Given the description of an element on the screen output the (x, y) to click on. 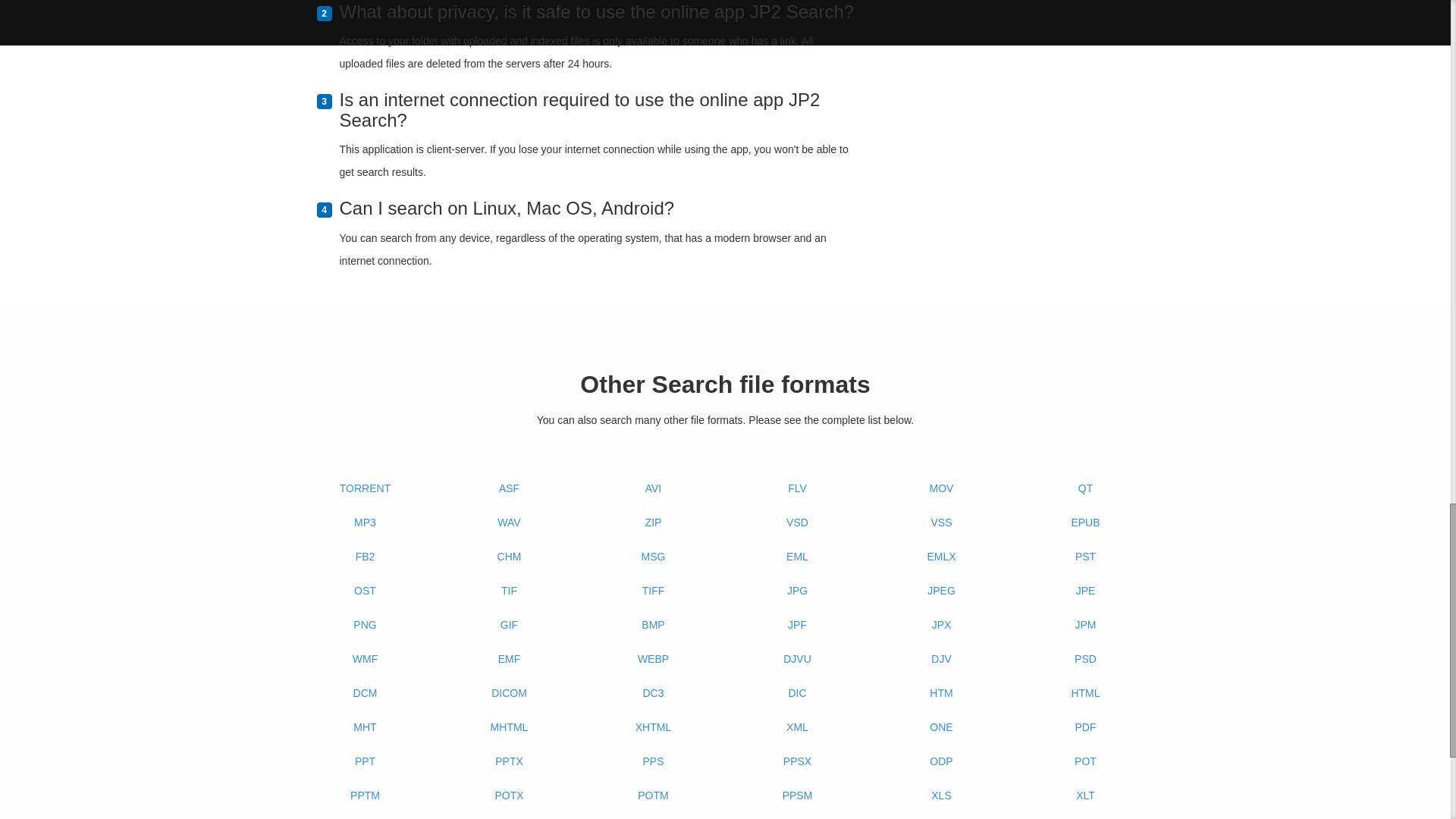
TORRENT (365, 488)
EML (797, 557)
EPUB (1086, 522)
QT (1086, 488)
WAV (509, 522)
PST (1086, 557)
FLV (797, 488)
MP3 (365, 522)
VSD (797, 522)
ASF (509, 488)
CHM (509, 557)
FB2 (365, 557)
MOV (941, 488)
ZIP (653, 522)
AVI (653, 488)
